Given the description of an element on the screen output the (x, y) to click on. 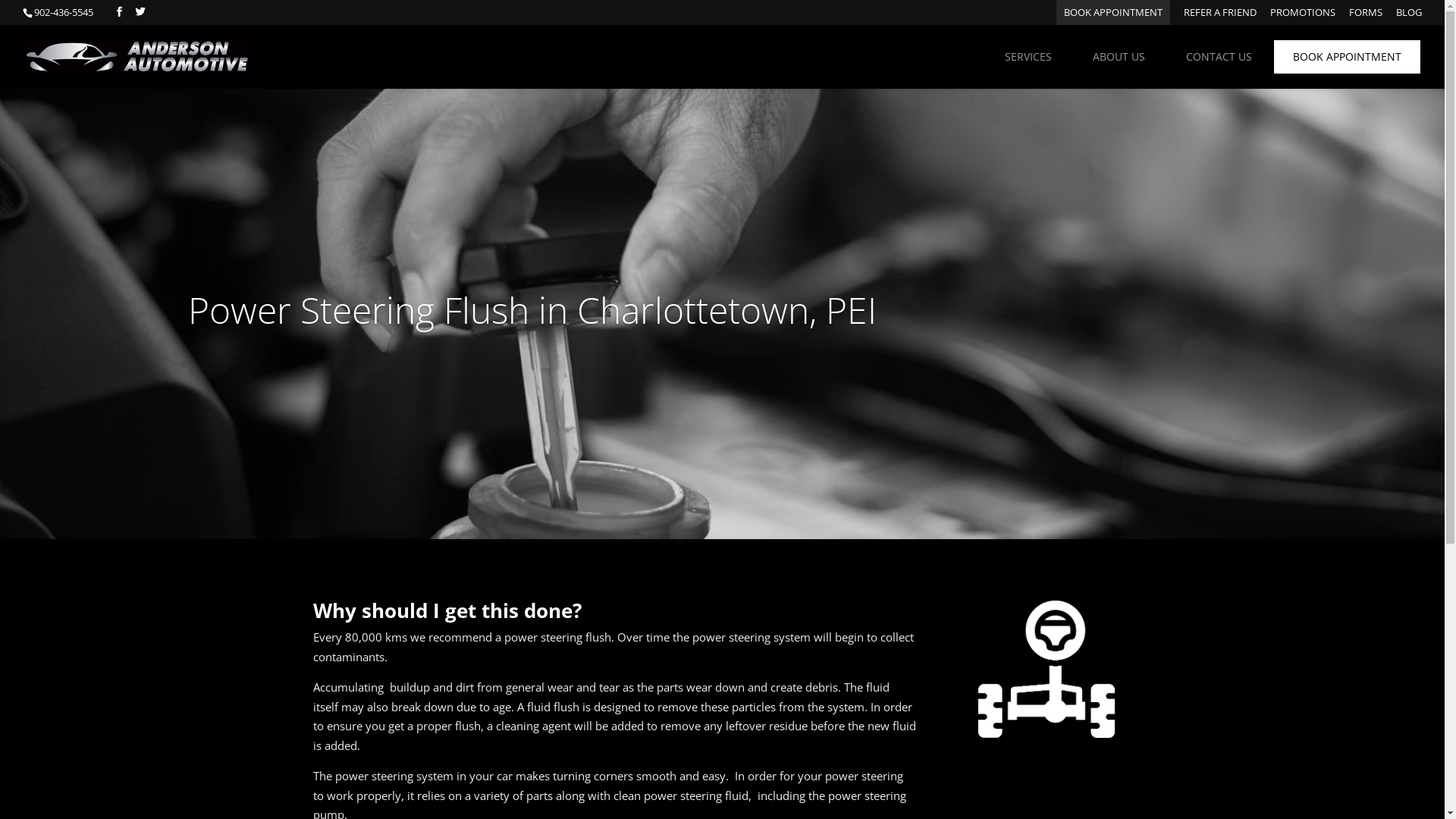
CONTACT US Element type: text (1218, 56)
BLOG Element type: text (1408, 16)
SERVICES Element type: text (1027, 56)
902-436-5545 Element type: text (62, 11)
BOOK APPOINTMENT Element type: text (1112, 16)
ABOUT US Element type: text (1118, 56)
PROMOTIONS Element type: text (1302, 16)
REFER A FRIEND Element type: text (1219, 16)
FORMS Element type: text (1365, 16)
BOOK APPOINTMENT Element type: text (1347, 56)
noun_Power steering_wh Element type: hover (1046, 668)
